Given the description of an element on the screen output the (x, y) to click on. 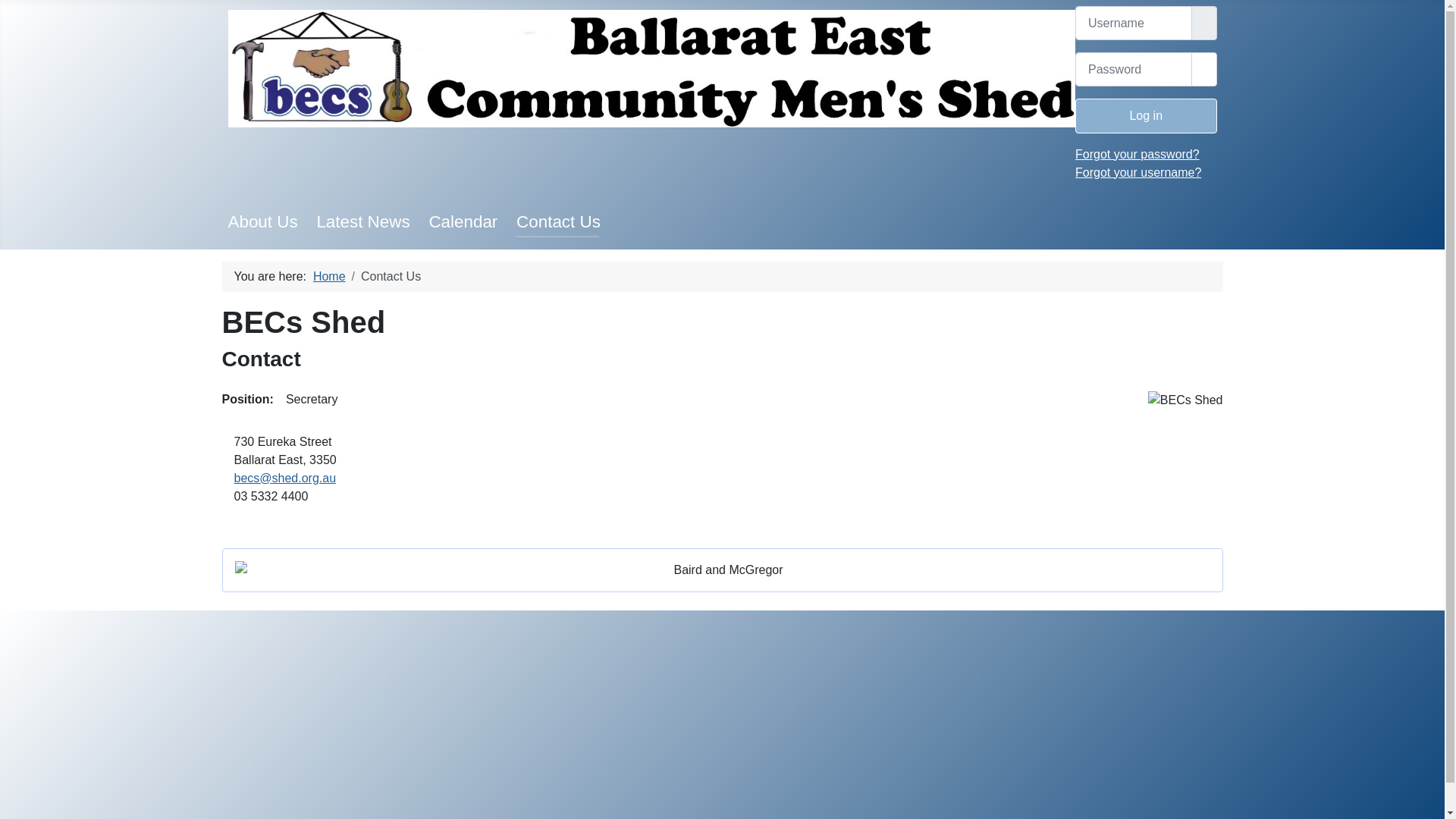
Forgot your username? Element type: text (1138, 172)
Forgot your password? Element type: text (1137, 153)
About Us Element type: text (262, 221)
Log in Element type: text (1145, 115)
Contact Us Element type: text (558, 221)
Baird and McGregor Element type: hover (722, 570)
Username Element type: hover (1203, 23)
Calendar Element type: text (462, 221)
Latest News Element type: text (362, 221)
Home Element type: text (329, 275)
Show Password Element type: text (1203, 69)
becs@shed.org.au Element type: text (284, 477)
